Given the description of an element on the screen output the (x, y) to click on. 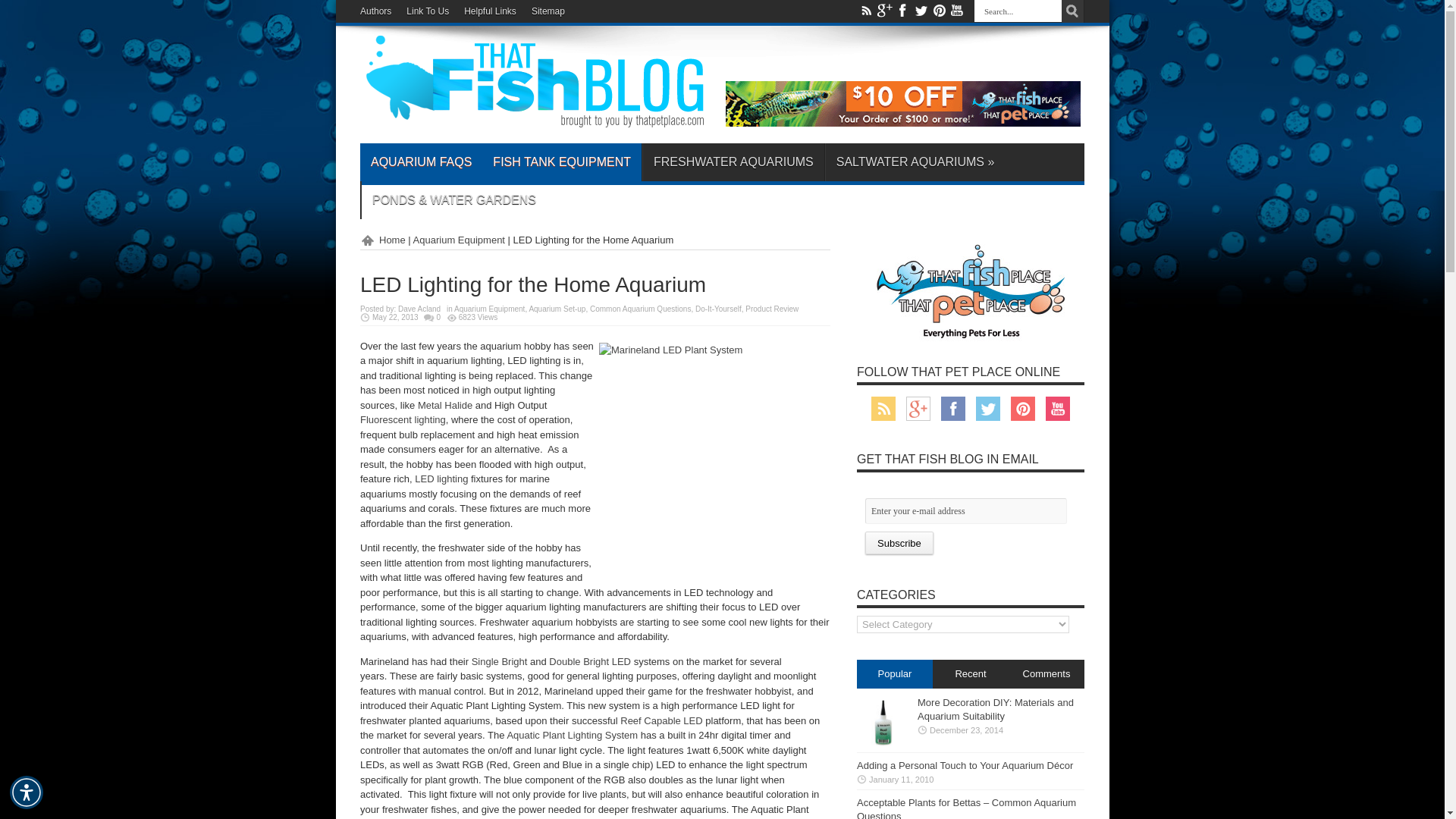
LED lighting (440, 478)
Aquarium Equipment (459, 239)
Aquarium Set-up (556, 308)
AQUARIUM FAQS (420, 161)
Helpful Links (490, 11)
Link To Us (427, 11)
Search (1072, 11)
Enter your e-mail address (965, 510)
Reef Capable LED (660, 719)
Search (1072, 11)
Do-It-Yourself (718, 308)
Search (1072, 11)
Home (382, 239)
Subscribe (898, 542)
